Given the description of an element on the screen output the (x, y) to click on. 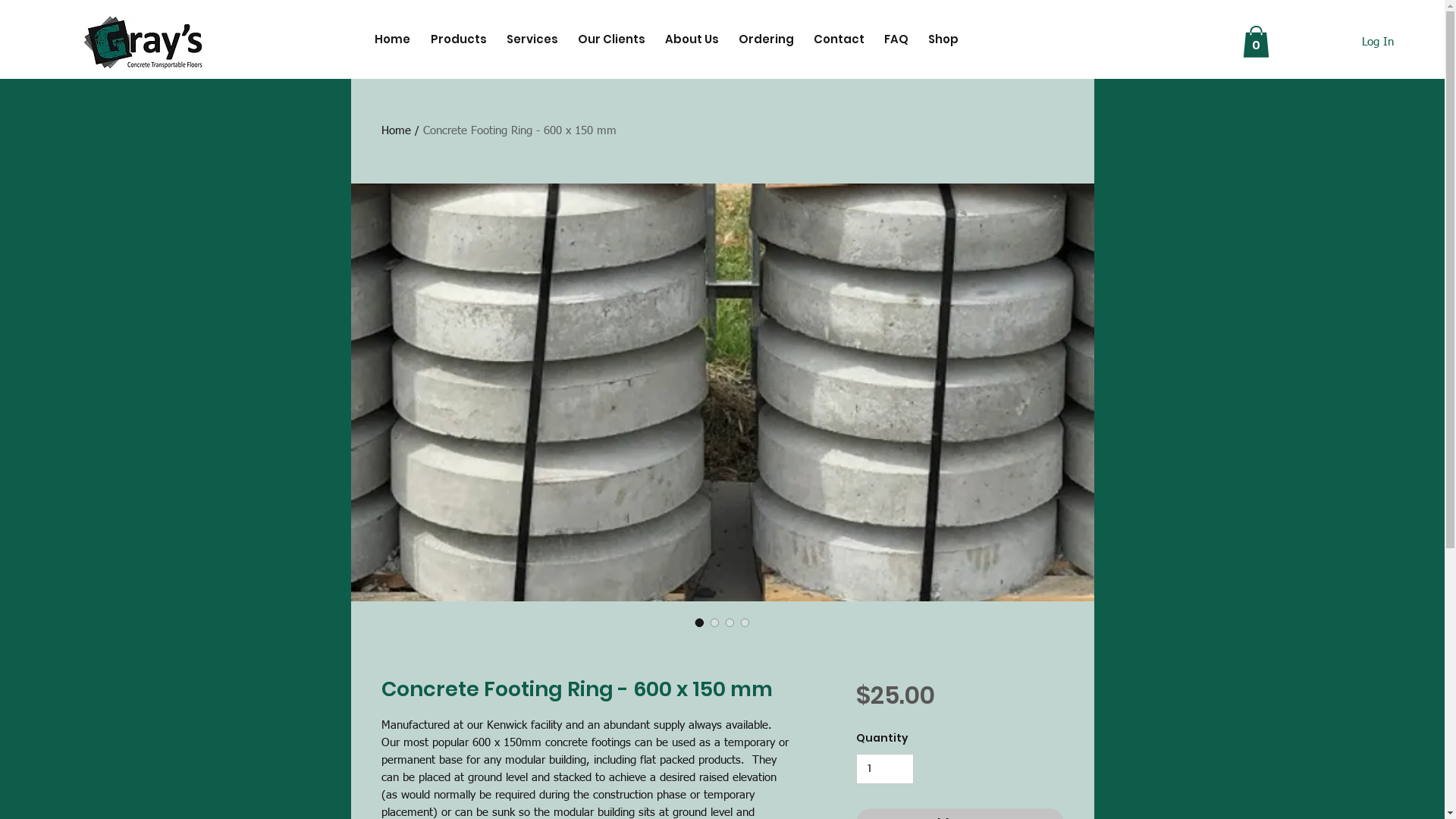
Shop Element type: text (941, 39)
Log In Element type: text (1377, 41)
About Us Element type: text (689, 39)
Ordering Element type: text (763, 39)
Services Element type: text (529, 39)
Home Element type: text (389, 39)
Our Clients Element type: text (608, 39)
0 Element type: text (1255, 41)
Home Element type: text (395, 130)
Concrete Footing Ring - 600 x 150 mm Element type: text (519, 130)
FAQ Element type: text (894, 39)
Contact Element type: text (836, 39)
